Given the description of an element on the screen output the (x, y) to click on. 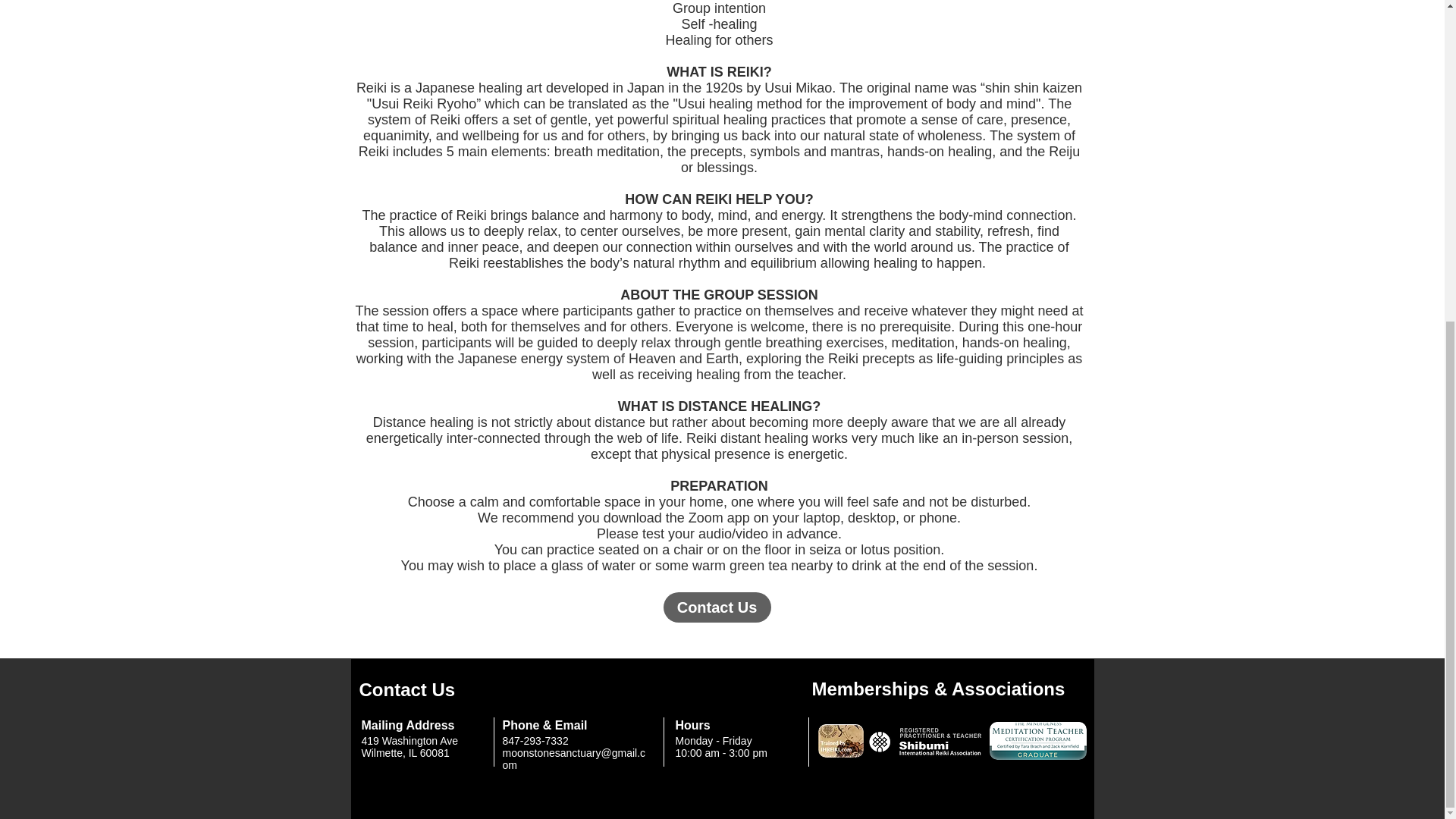
Contact Us (716, 607)
